Given the description of an element on the screen output the (x, y) to click on. 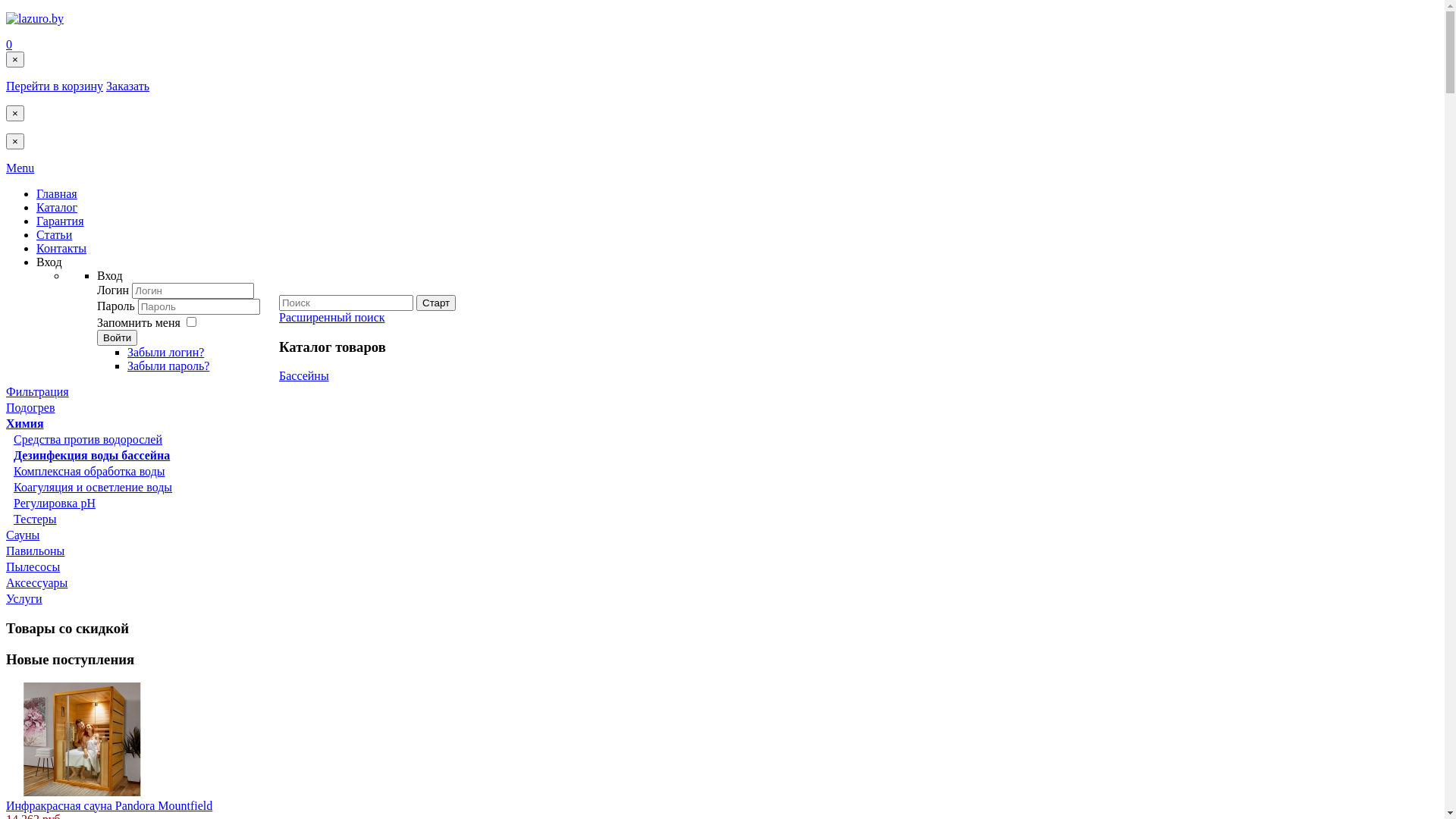
0 Element type: text (9, 43)
Menu Element type: text (20, 167)
